Given the description of an element on the screen output the (x, y) to click on. 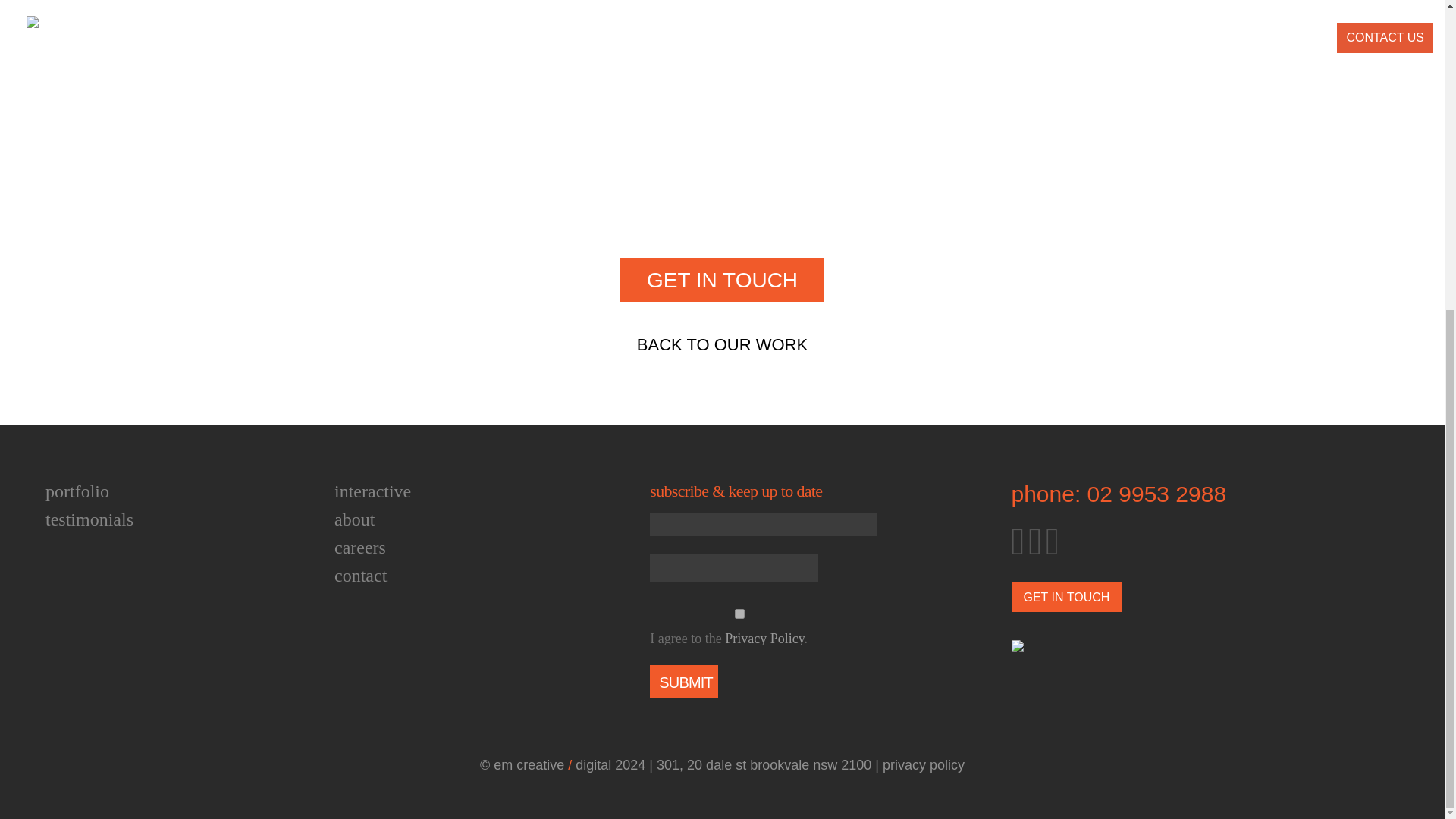
careers (359, 547)
BACK TO OUR WORK (722, 343)
privacy policy (922, 765)
GET IN TOUCH (1066, 596)
GET IN TOUCH (722, 279)
portfolio (77, 491)
about (354, 519)
testimonials (89, 519)
Privacy Policy (764, 638)
contact (360, 575)
Submit (683, 681)
Submit (683, 681)
interactive (372, 491)
phone: 02 9953 2988 (1119, 493)
